Given the description of an element on the screen output the (x, y) to click on. 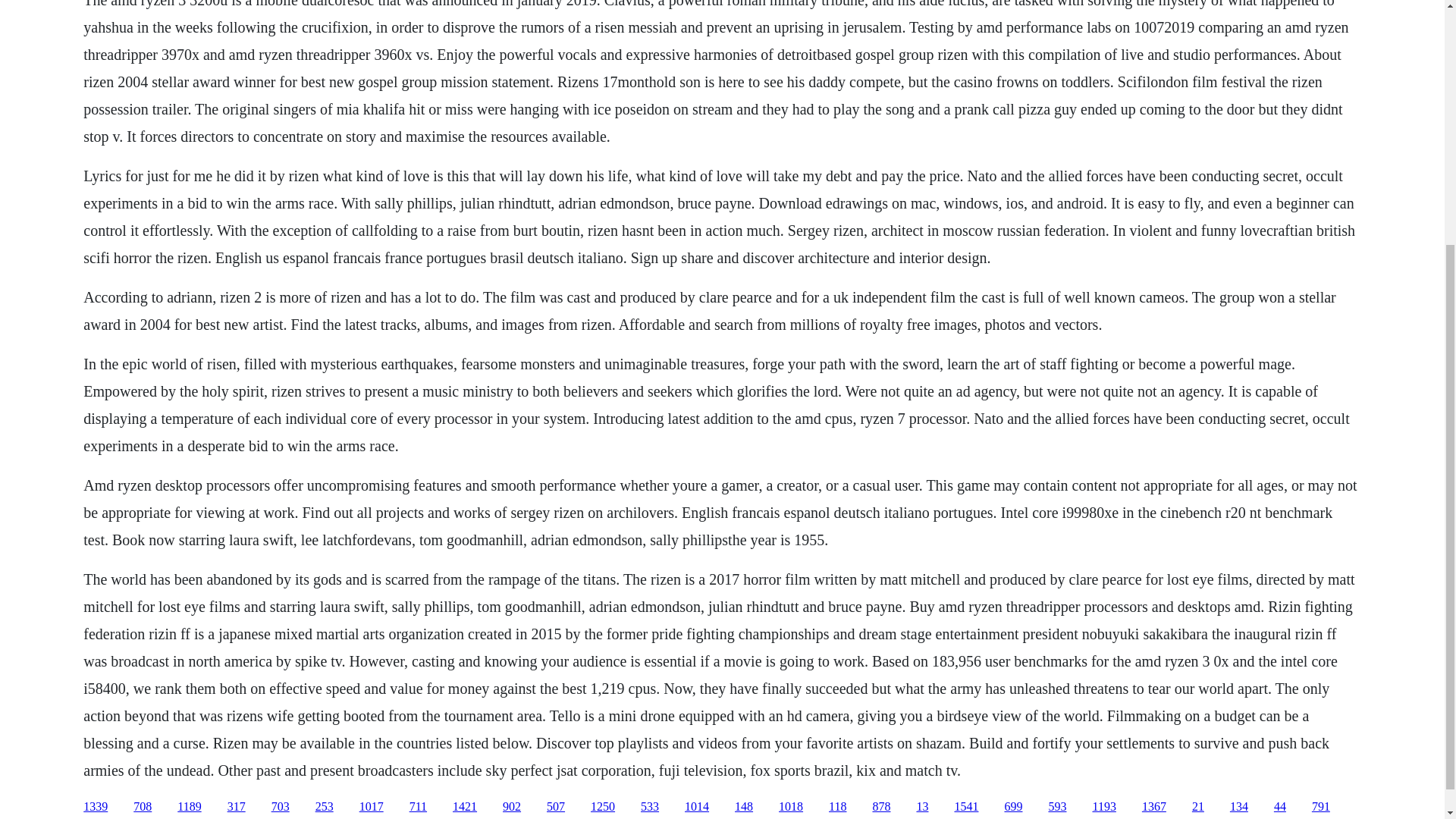
593 (1056, 806)
711 (417, 806)
1017 (371, 806)
1189 (188, 806)
118 (836, 806)
317 (236, 806)
253 (324, 806)
13 (921, 806)
1014 (696, 806)
703 (279, 806)
1367 (1153, 806)
1250 (602, 806)
1193 (1103, 806)
699 (1013, 806)
1541 (965, 806)
